Given the description of an element on the screen output the (x, y) to click on. 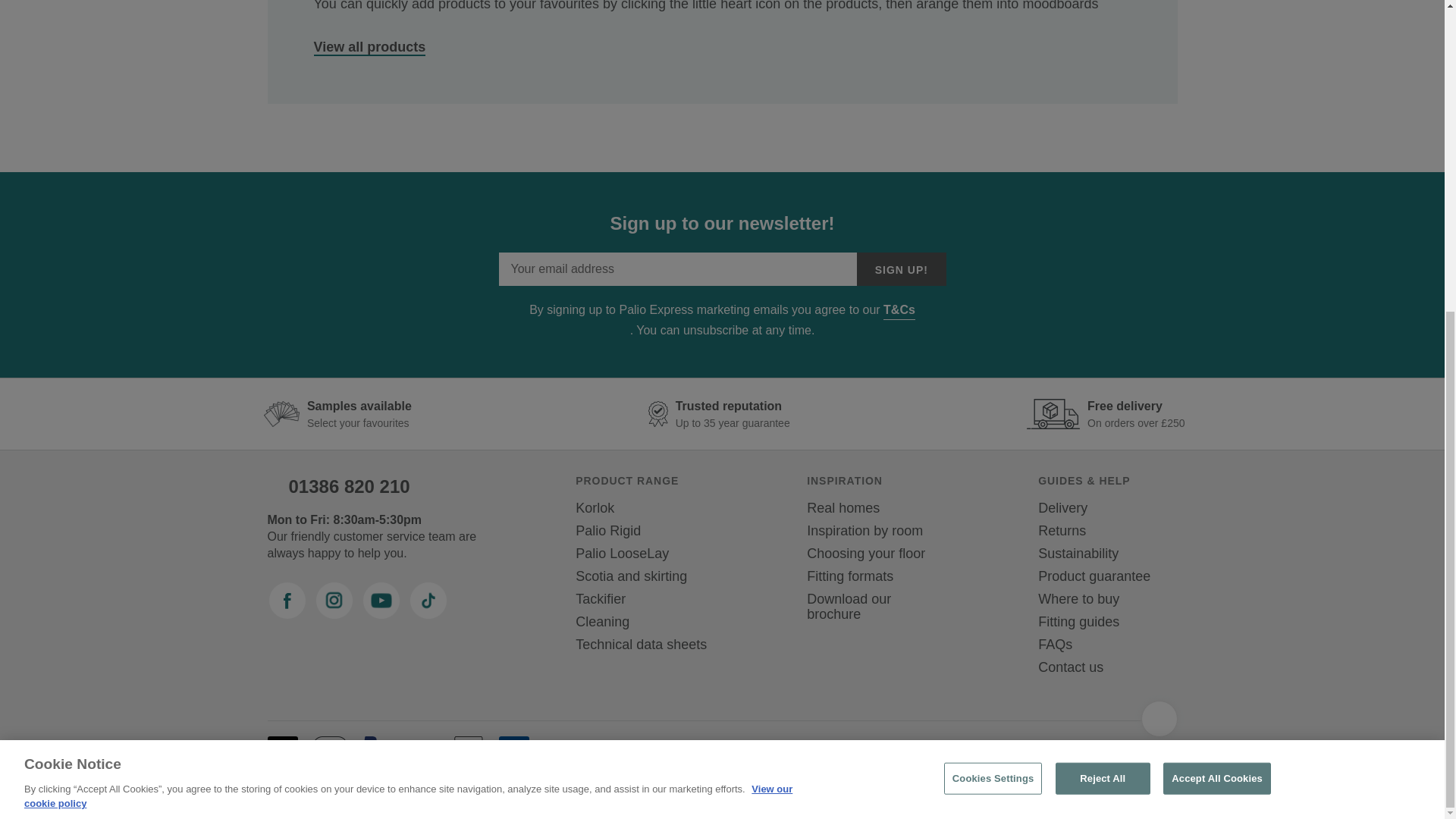
Palio Rigid (607, 530)
View All Products (370, 47)
Palio LooseLay (621, 553)
Korlok (594, 507)
